Given the description of an element on the screen output the (x, y) to click on. 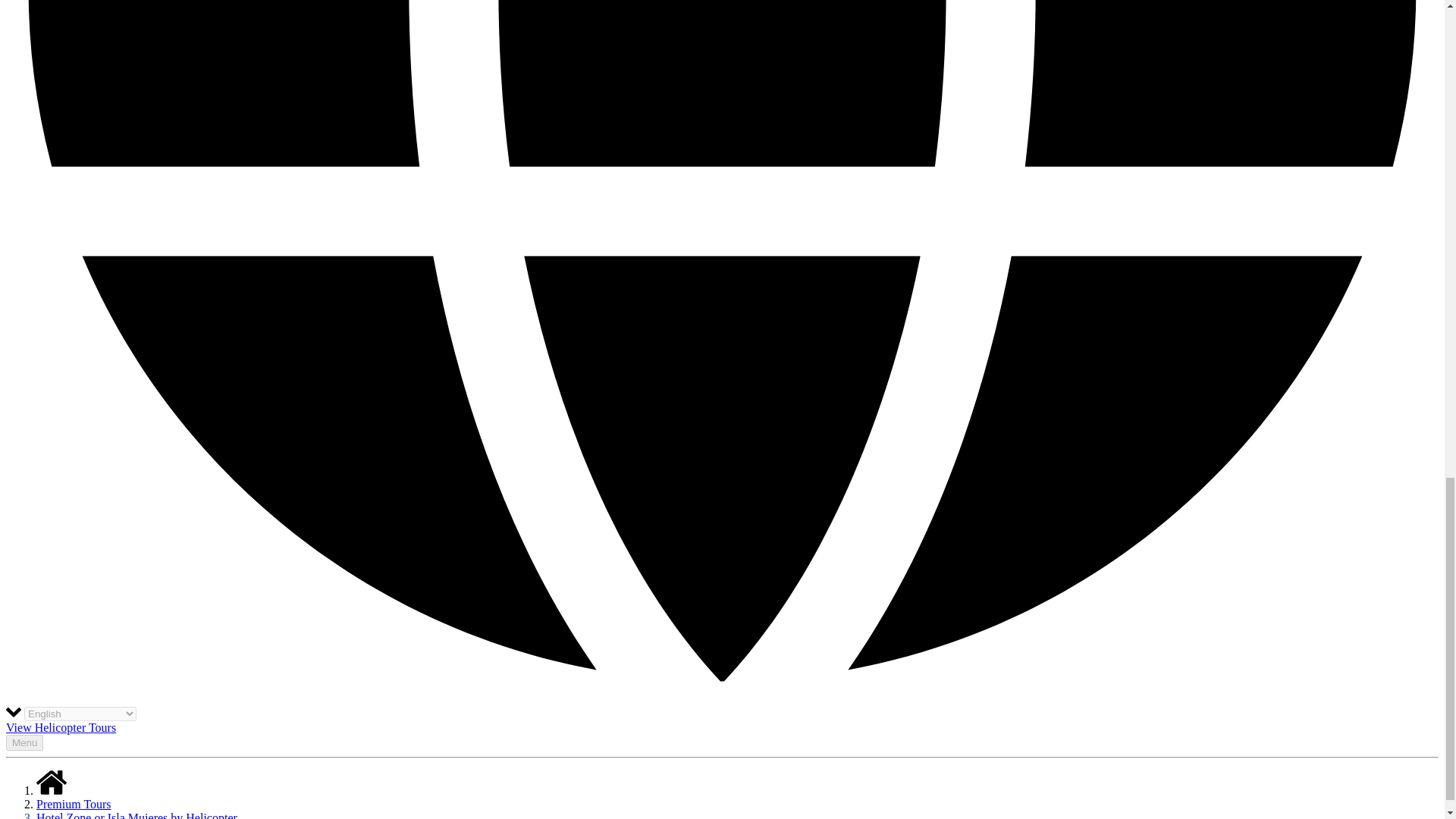
Home (51, 789)
View Helicopter Tours (60, 727)
Premium Tours (74, 803)
Home (51, 782)
Menu (24, 742)
Chevron down (13, 712)
